Given the description of an element on the screen output the (x, y) to click on. 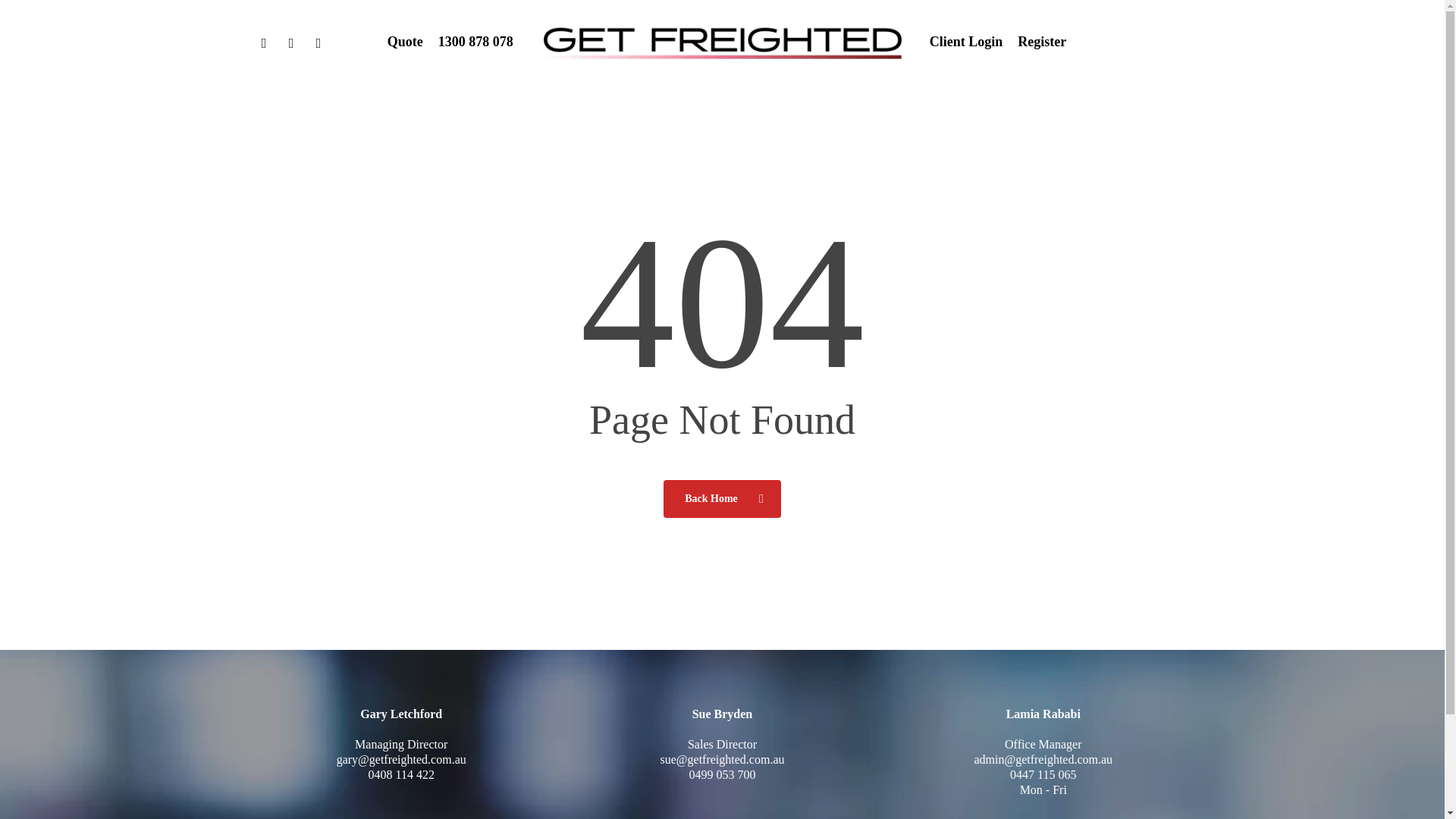
Quote (405, 42)
Register (1041, 42)
0447 115 065 (1042, 774)
Back Home (721, 497)
0499 053 700 (721, 774)
1300 878 078 (475, 42)
0408 114 422 (400, 774)
Client Login (966, 42)
